Given the description of an element on the screen output the (x, y) to click on. 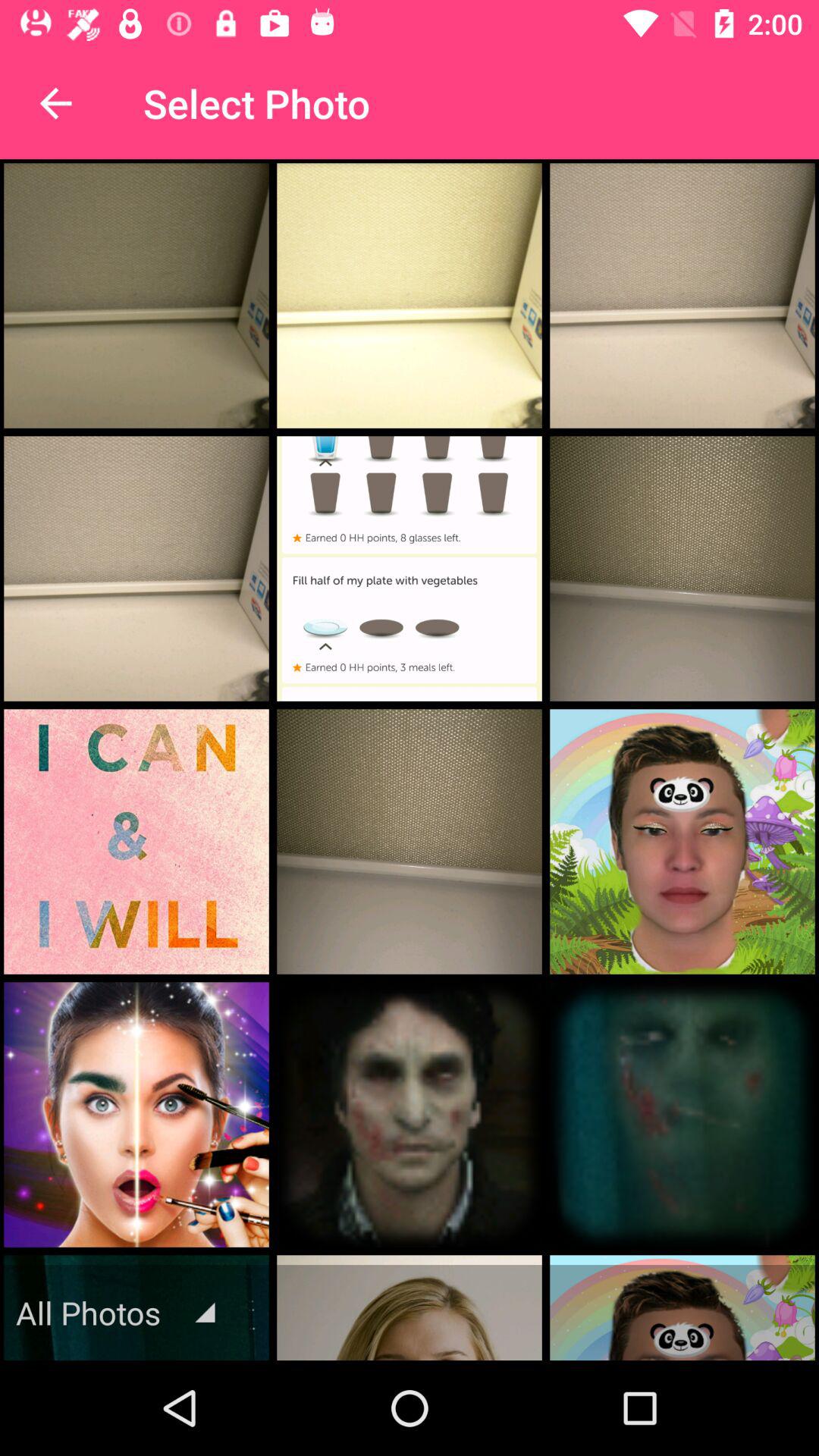
press icon next to the select photo (55, 103)
